Given the description of an element on the screen output the (x, y) to click on. 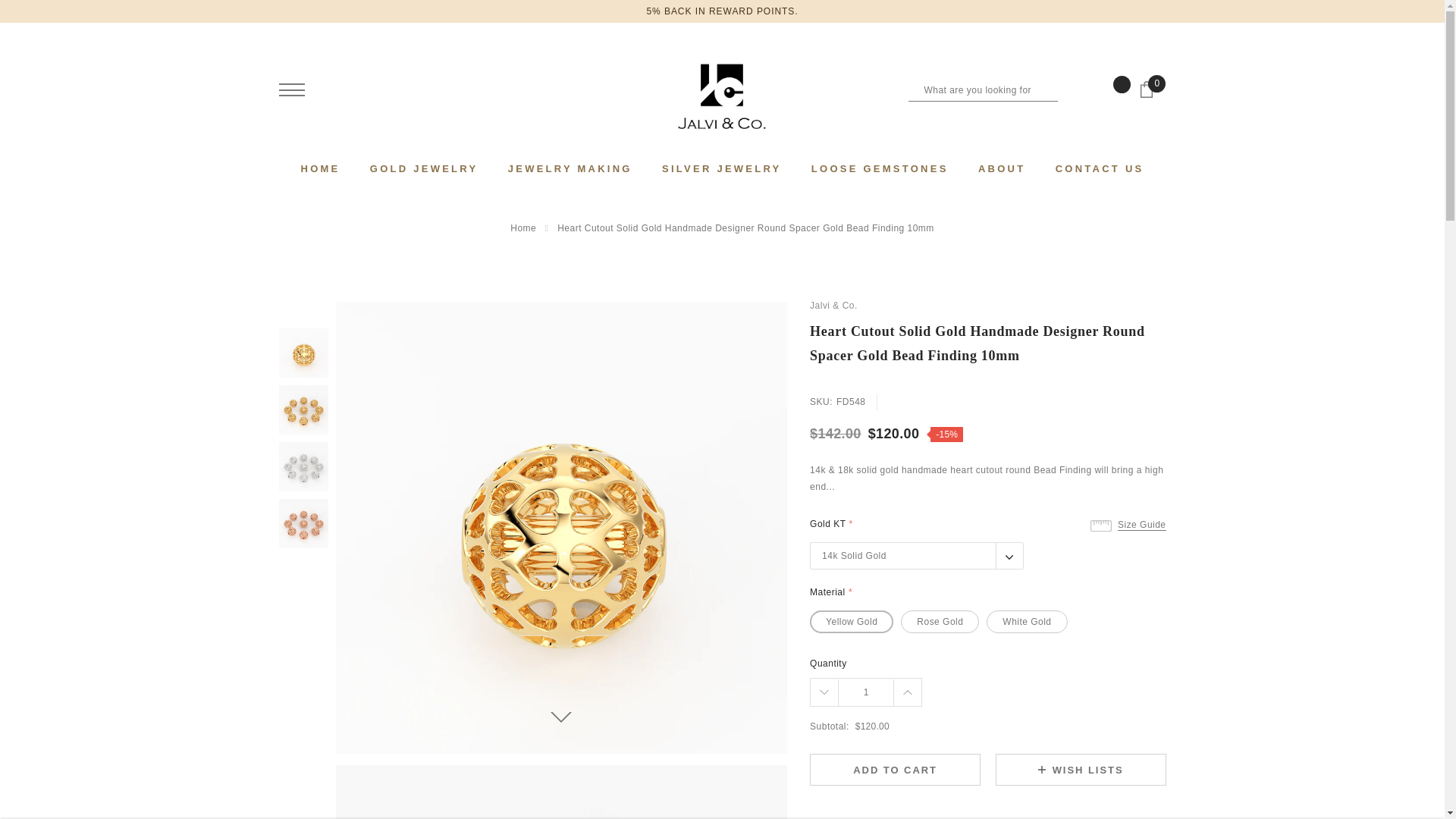
GOLD JEWELRY (424, 167)
Yellow Gold (851, 621)
1 (865, 692)
0 (1152, 96)
User Icon (335, 89)
search (1069, 89)
Menu left (291, 90)
